Given the description of an element on the screen output the (x, y) to click on. 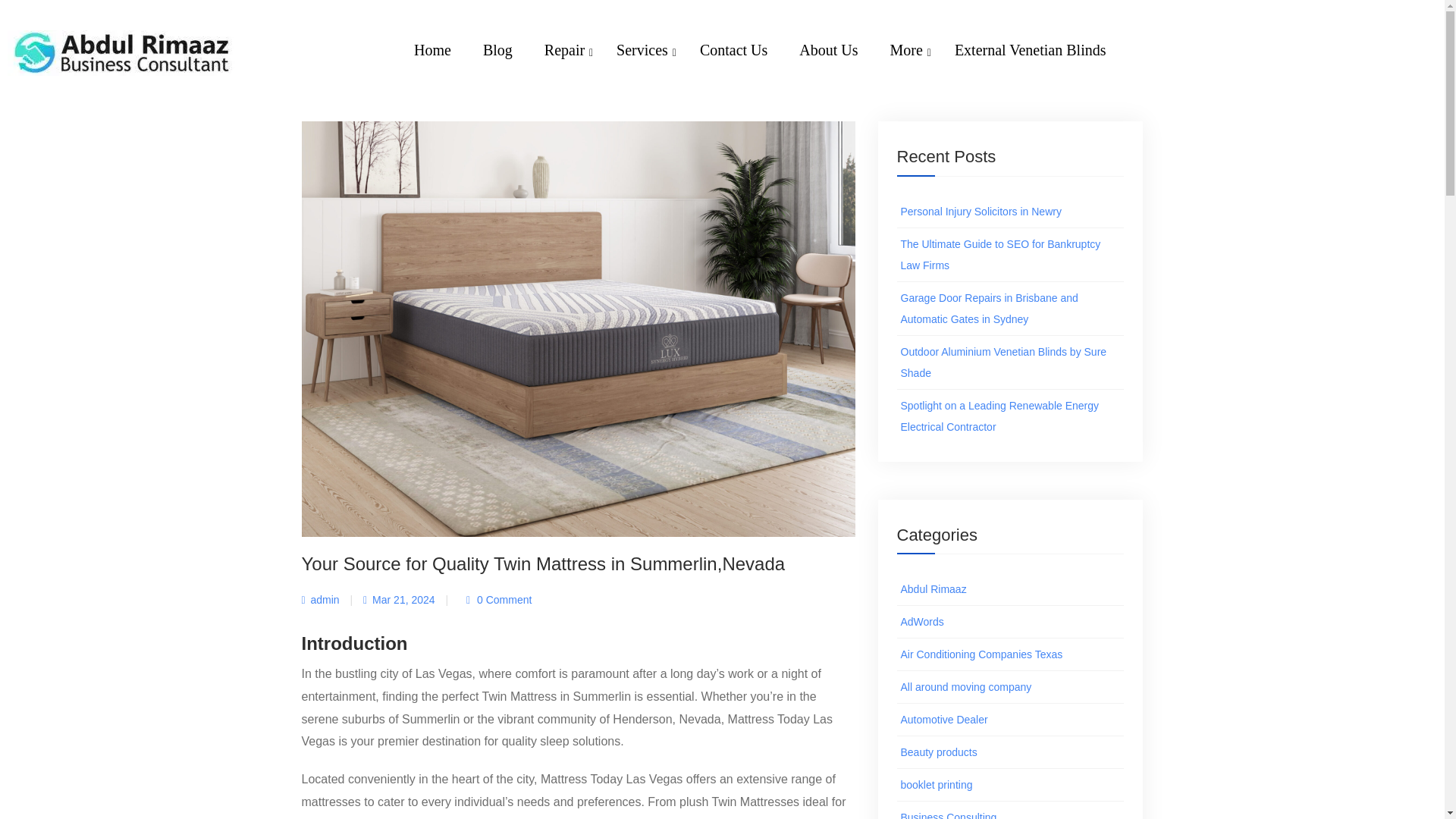
Services (669, 53)
Blog (779, 68)
Home (773, 69)
Repair (796, 68)
